Given the description of an element on the screen output the (x, y) to click on. 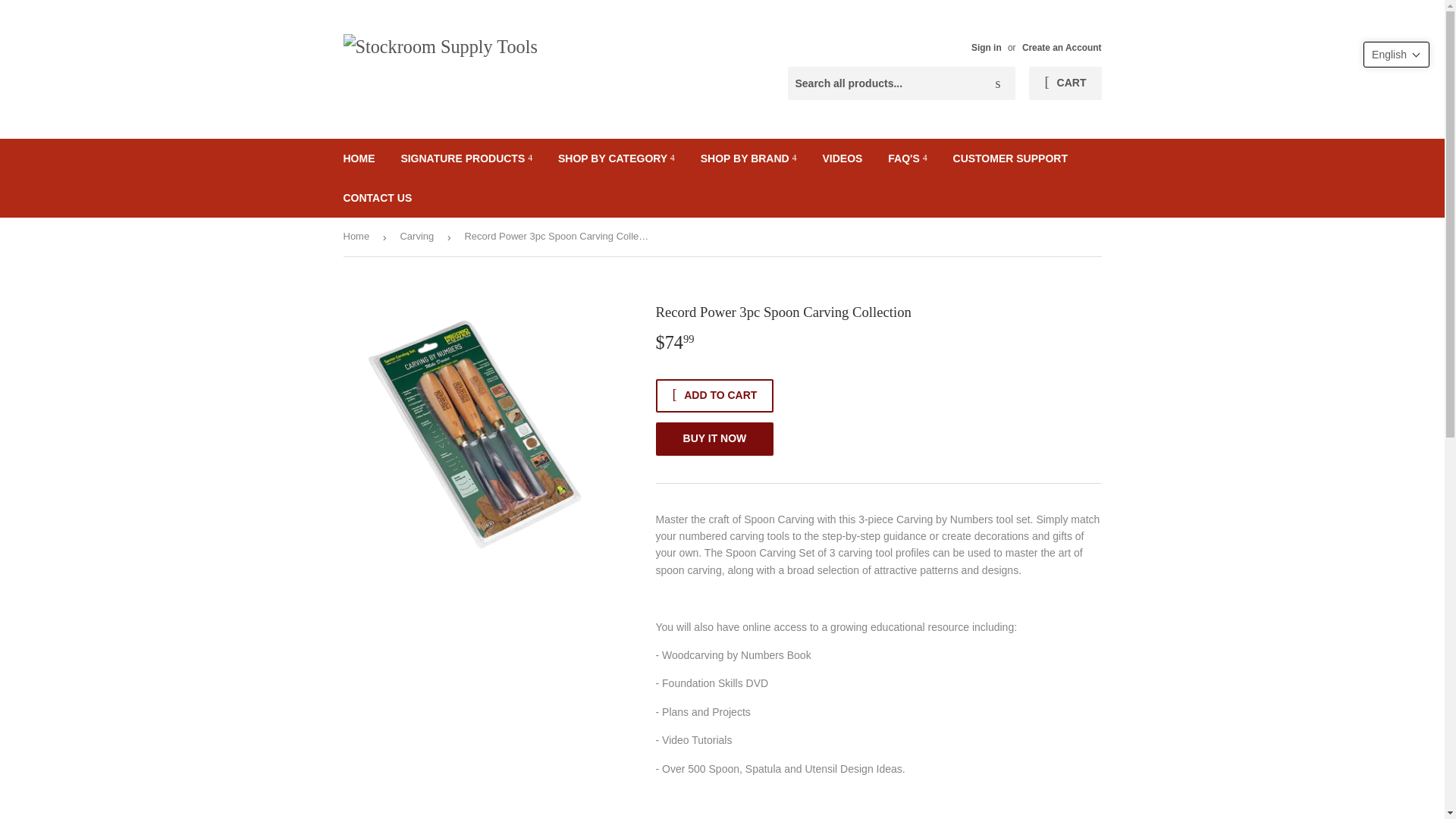
CART (1064, 82)
Sign in (986, 47)
Search (997, 83)
Create an Account (1062, 47)
